Given the description of an element on the screen output the (x, y) to click on. 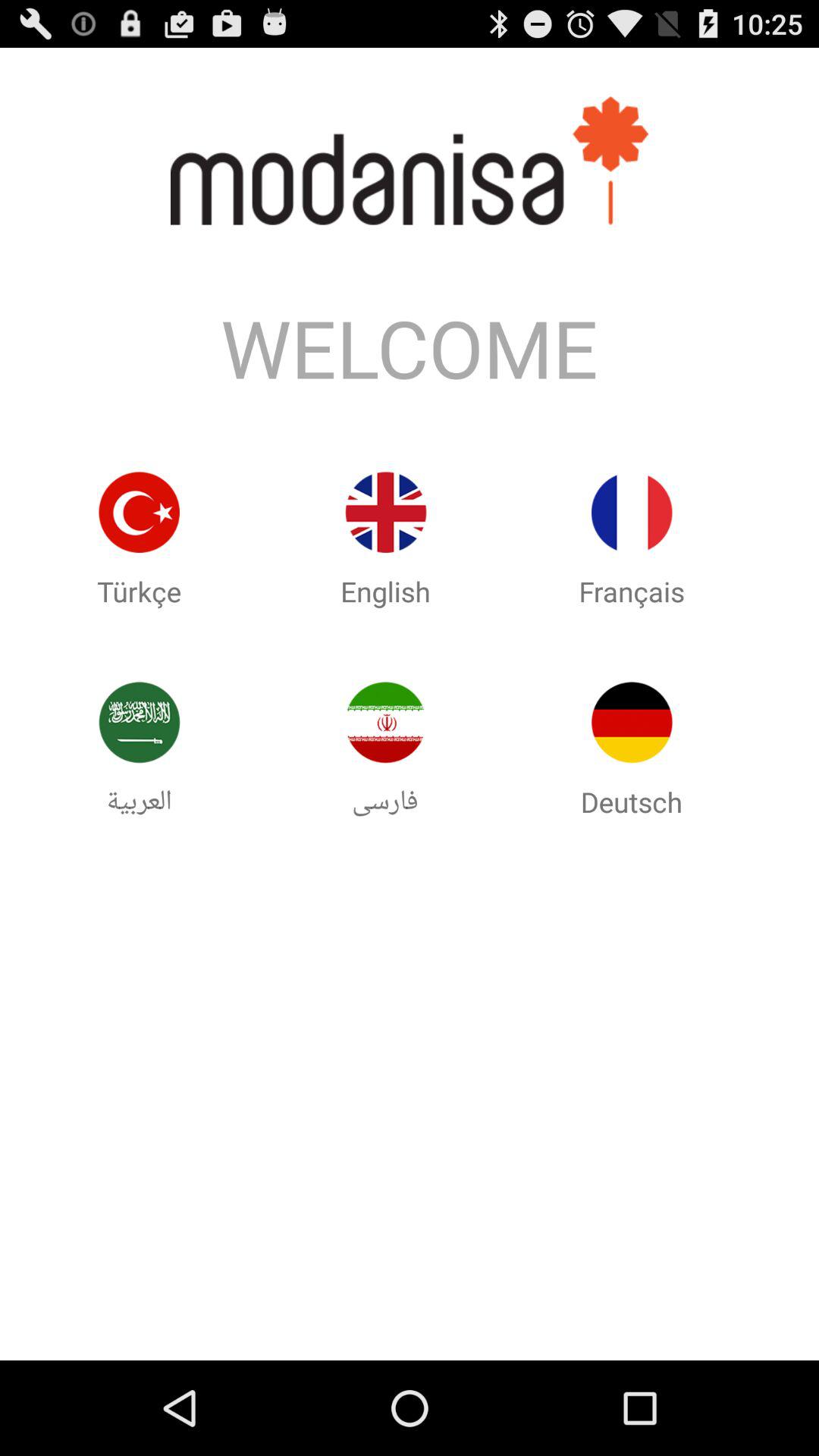
select the text above welcome (409, 161)
click on the image below english (386, 721)
click on the image below francais (632, 751)
click on icon on the left side of english (139, 512)
click on the second logo which is below the welcome (385, 540)
